Given the description of an element on the screen output the (x, y) to click on. 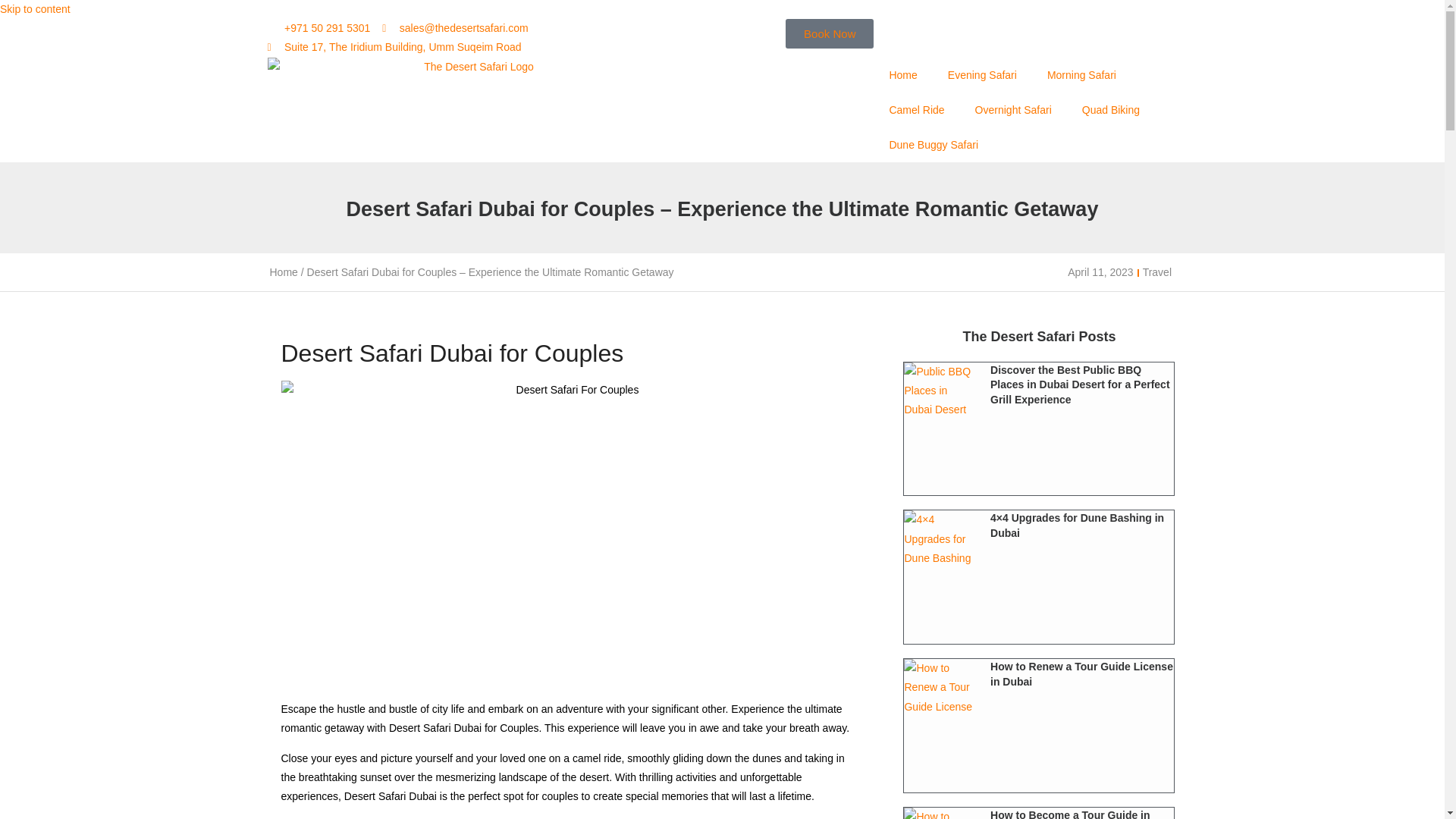
Morning Safari (1081, 74)
Dubai Desert Safari (982, 74)
Quad Biking (1110, 109)
Skip to content (34, 9)
Overnight Safari (1013, 109)
Evening Safari (982, 74)
Home (283, 272)
Home (902, 74)
Camel Ride (916, 109)
Book Now (829, 33)
Suite 17, The Iridium Building, Umm Suqeim Road (393, 46)
Camel Desert Safari (916, 109)
Dune Buggy Safari (932, 144)
Desert Safari Dubai (902, 74)
Morning Desert Safari (1081, 74)
